Given the description of an element on the screen output the (x, y) to click on. 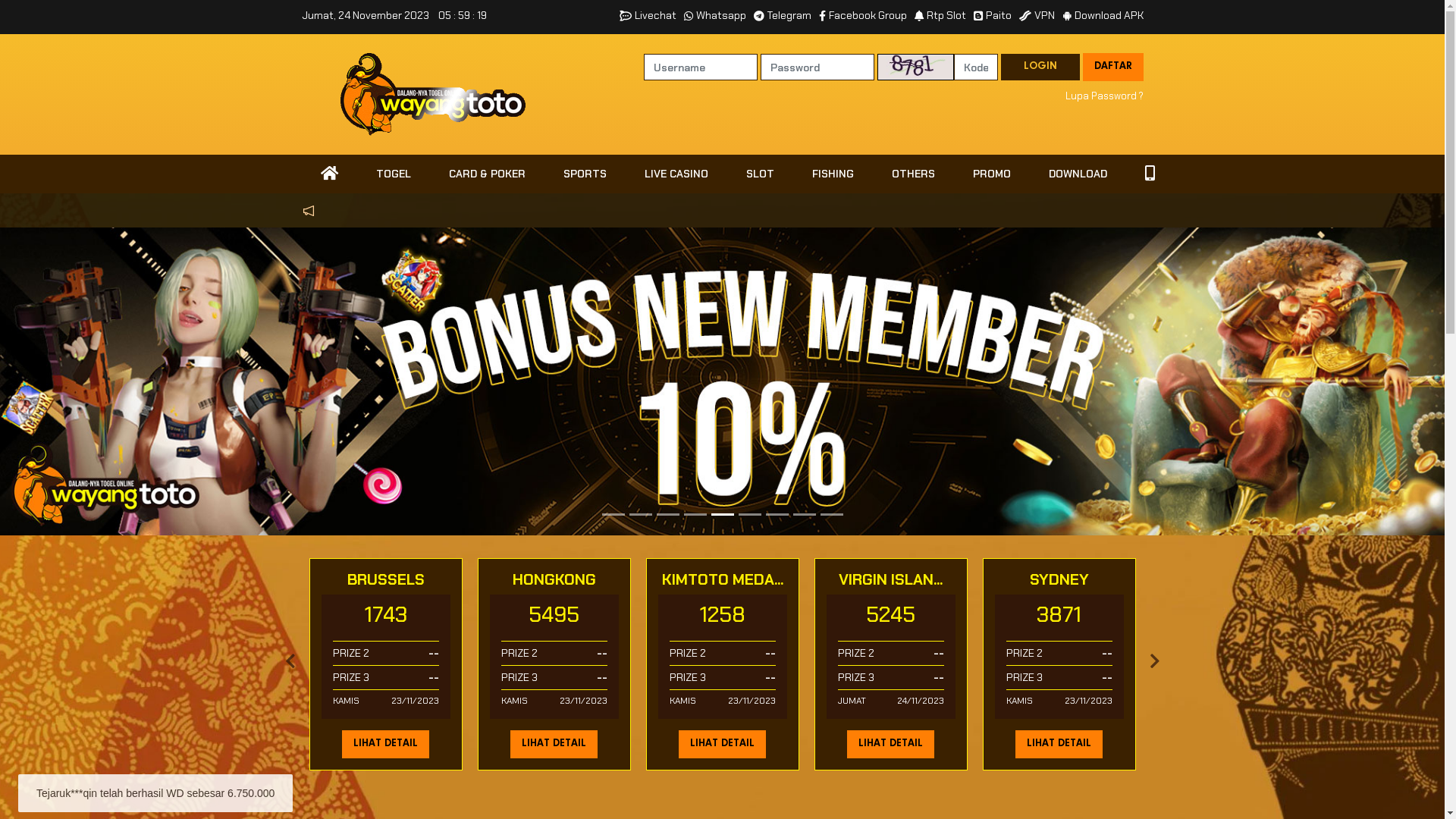
Whatsapp Element type: text (715, 15)
Previous Element type: text (289, 663)
LIHAT DETAIL Element type: text (1058, 744)
SPORTS Element type: text (584, 173)
DOWNLOAD Element type: text (1077, 173)
Download APK Element type: text (1101, 15)
PROMO Element type: text (991, 173)
OTHERS Element type: text (912, 173)
LIVE CASINO Element type: text (675, 173)
LIHAT DETAIL Element type: text (385, 744)
LIHAT DETAIL Element type: text (553, 744)
LIHAT DETAIL Element type: text (721, 744)
VPN Element type: text (1036, 15)
Paito Element type: text (992, 15)
SLOT Element type: text (759, 173)
FISHING Element type: text (832, 173)
Telegram Element type: text (782, 15)
Facebook Group Element type: text (862, 15)
Rtp Slot Element type: text (940, 15)
CARD & POKER Element type: text (486, 173)
Livechat Element type: text (646, 15)
DAFTAR Element type: text (1112, 67)
Next Element type: text (1153, 663)
LIHAT DETAIL Element type: text (890, 744)
TOGEL Element type: text (392, 173)
Lupa Password ? Element type: text (1103, 95)
LOGIN Element type: text (1040, 66)
